Given the description of an element on the screen output the (x, y) to click on. 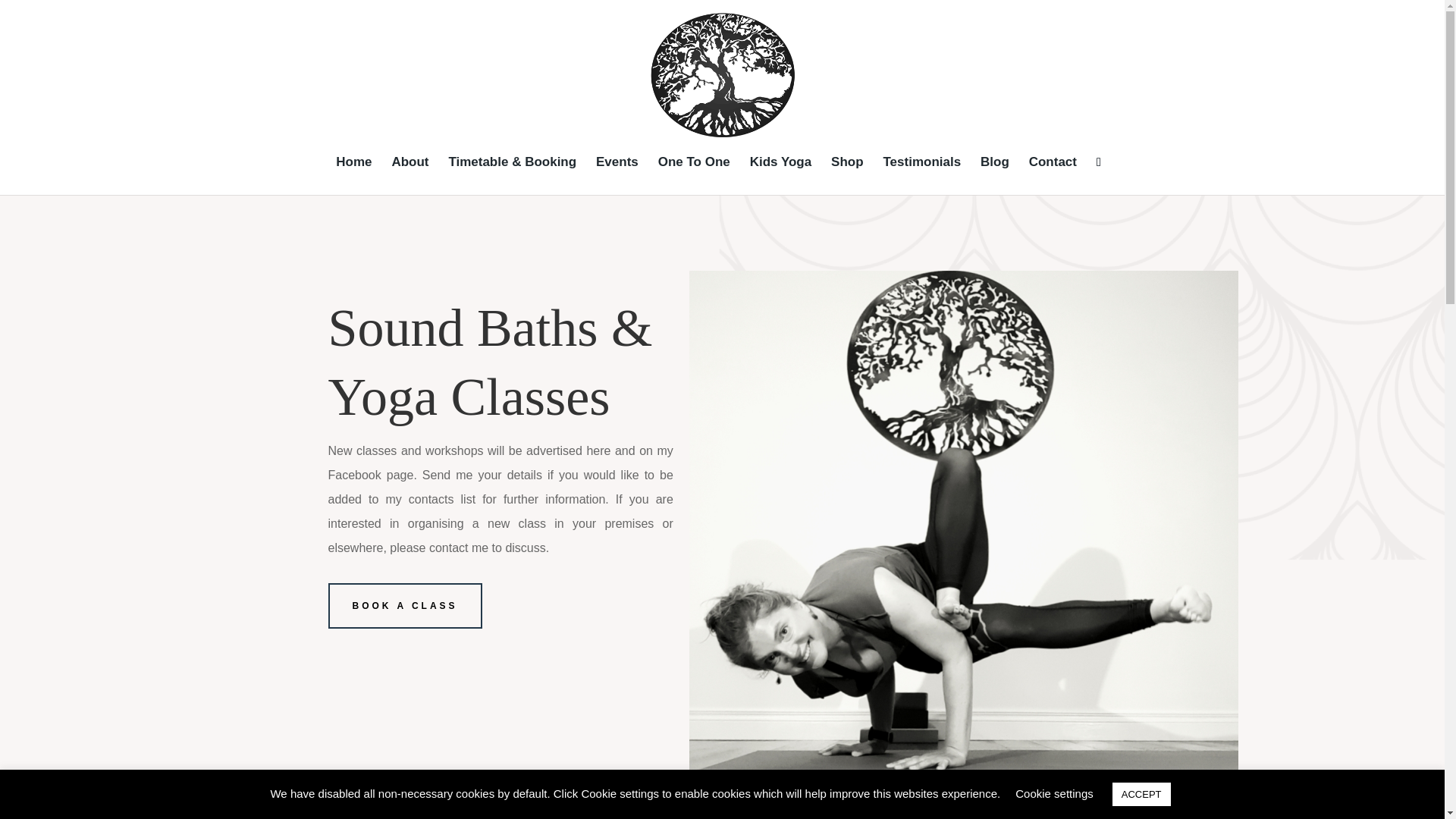
Kids Yoga (780, 175)
Events (617, 175)
Home (353, 175)
About (409, 175)
CLASS DESCRIPTIONS (940, 814)
Cookie settings (1053, 793)
ACCEPT (1141, 793)
Testimonials (921, 175)
One To One (694, 175)
